Given the description of an element on the screen output the (x, y) to click on. 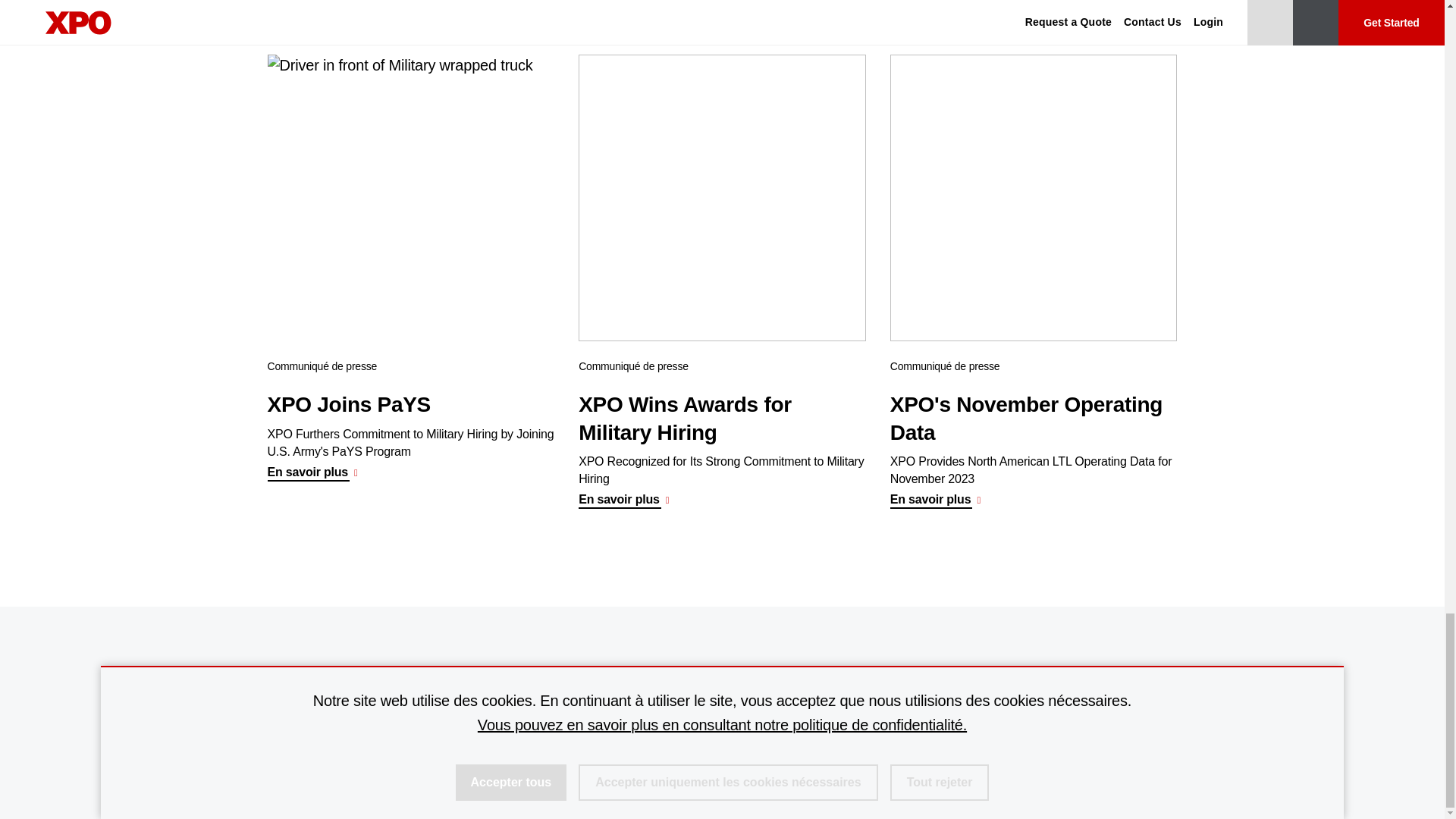
En savoir plus (626, 499)
XPO Joins PaYS (410, 198)
En savoir plus (315, 472)
En savoir plus (938, 499)
